Given the description of an element on the screen output the (x, y) to click on. 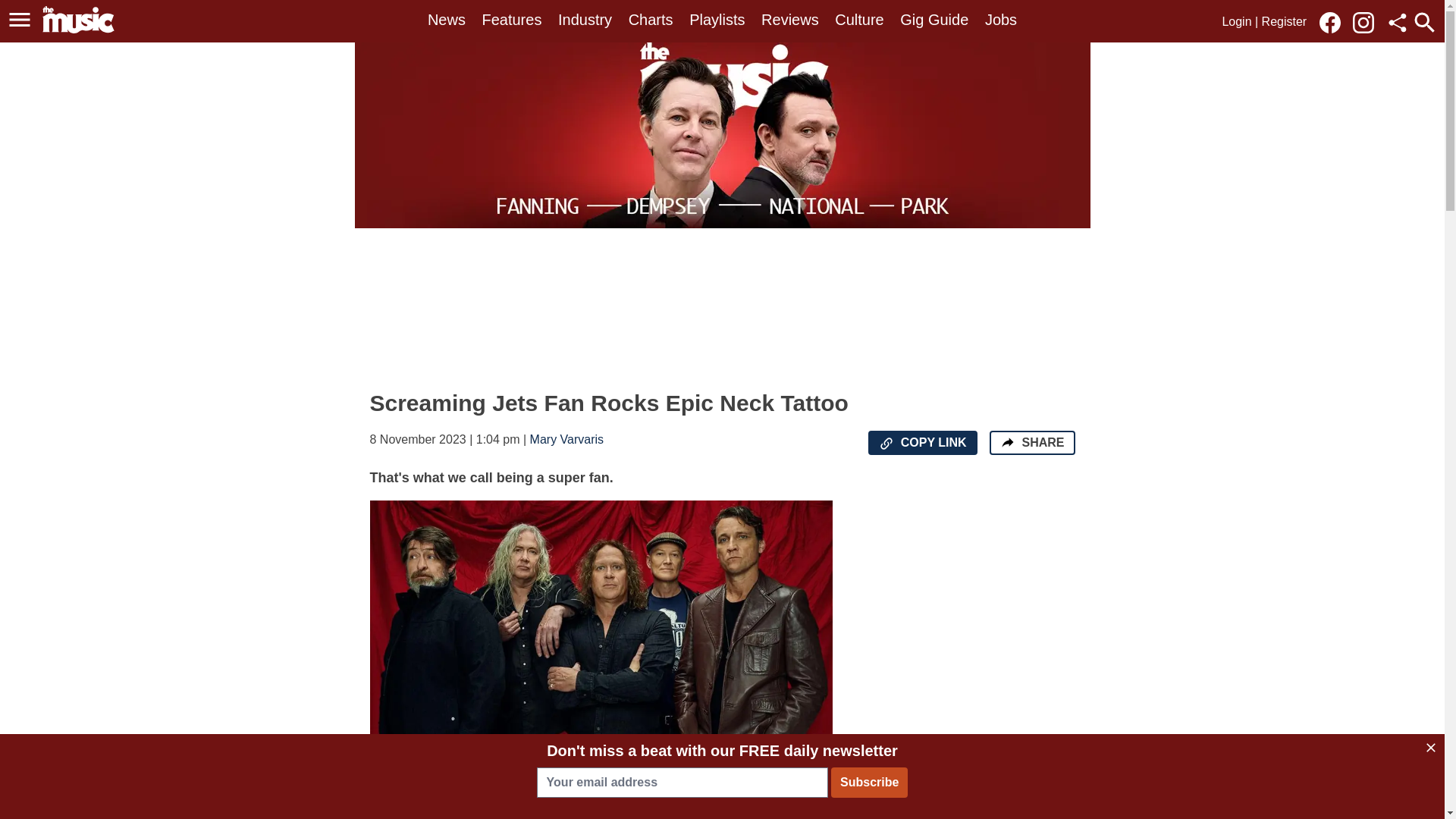
Link to our Facebook (1329, 22)
Share the page SHARE (1032, 442)
Share the page (1007, 441)
Open the main menu (19, 19)
Reviews (789, 19)
Industry (584, 19)
Copy the page URL COPY LINK (921, 442)
Culture (858, 19)
Gig Guide (933, 19)
Copy the page URL (886, 443)
Link to our Facebook (1334, 21)
Open the main menu (22, 19)
Register (1284, 21)
Share this page (1397, 22)
Features (511, 19)
